Given the description of an element on the screen output the (x, y) to click on. 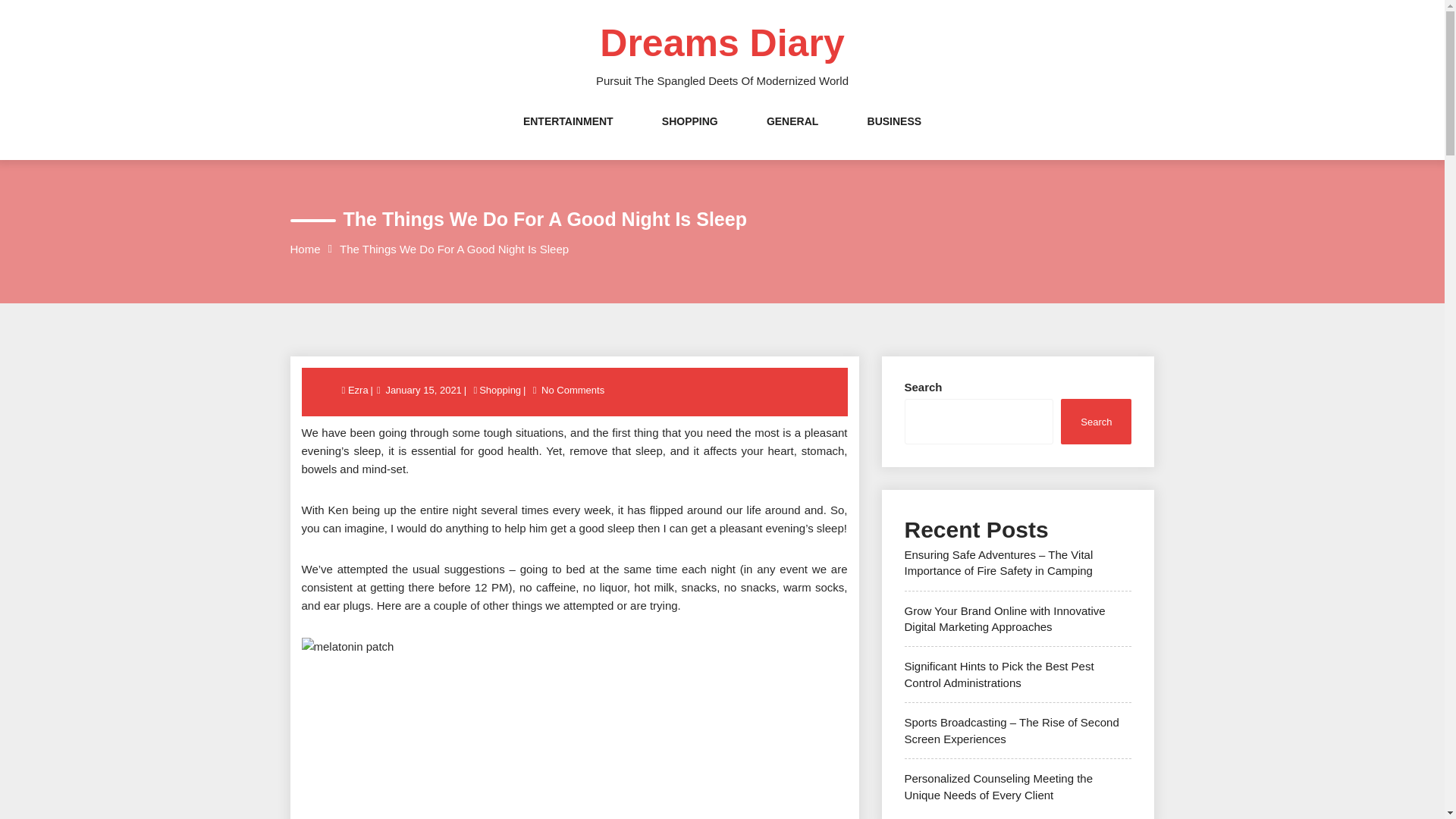
SHOPPING (689, 136)
Ezra (359, 389)
BUSINESS (894, 136)
ENTERTAINMENT (567, 136)
Dreams Diary (721, 43)
GENERAL (792, 136)
Home (304, 248)
January 15, 2021 (422, 389)
Search (1096, 420)
No Comments (572, 389)
Shopping (499, 389)
